Given the description of an element on the screen output the (x, y) to click on. 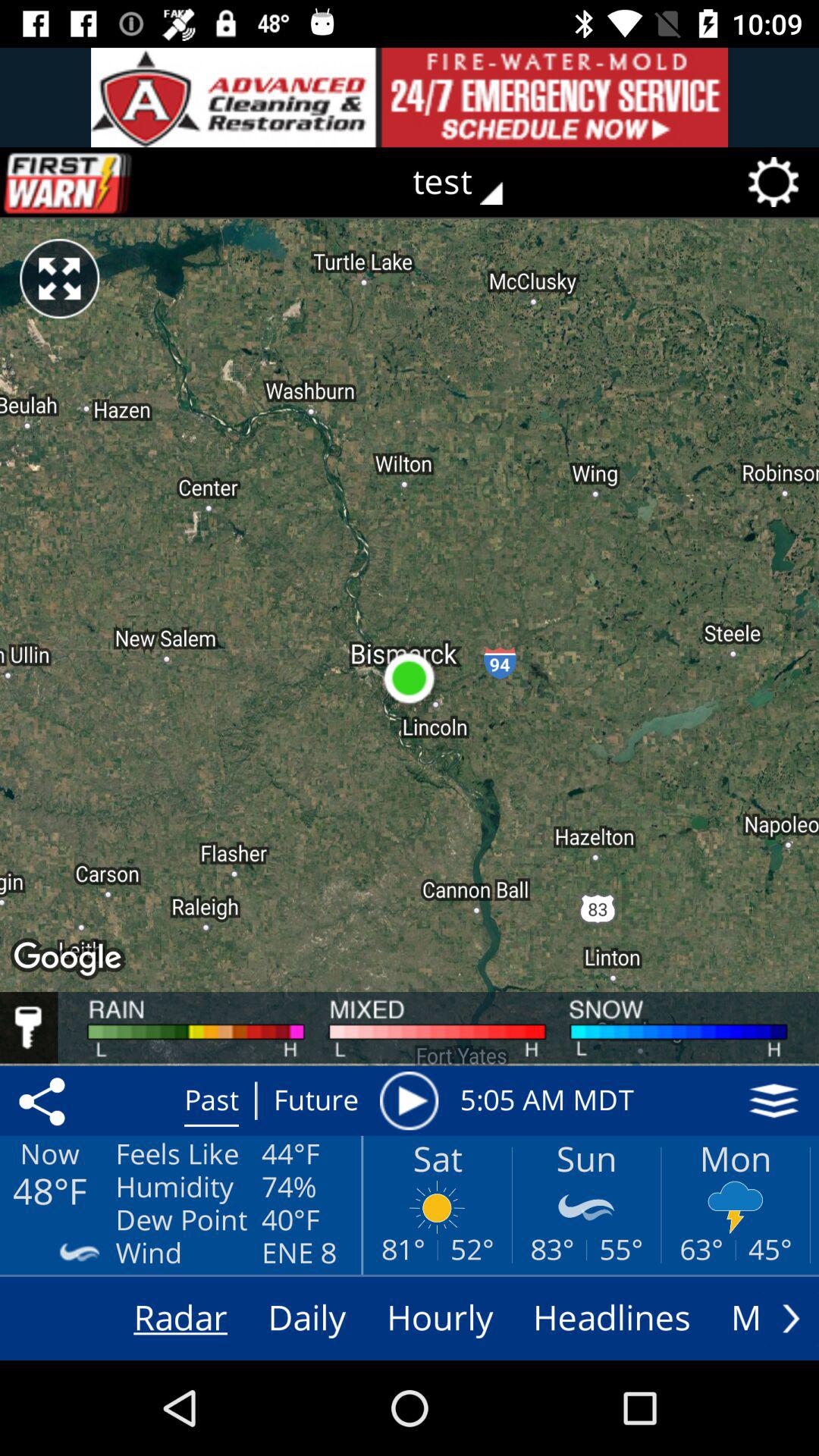
select terrain (774, 1100)
